Given the description of an element on the screen output the (x, y) to click on. 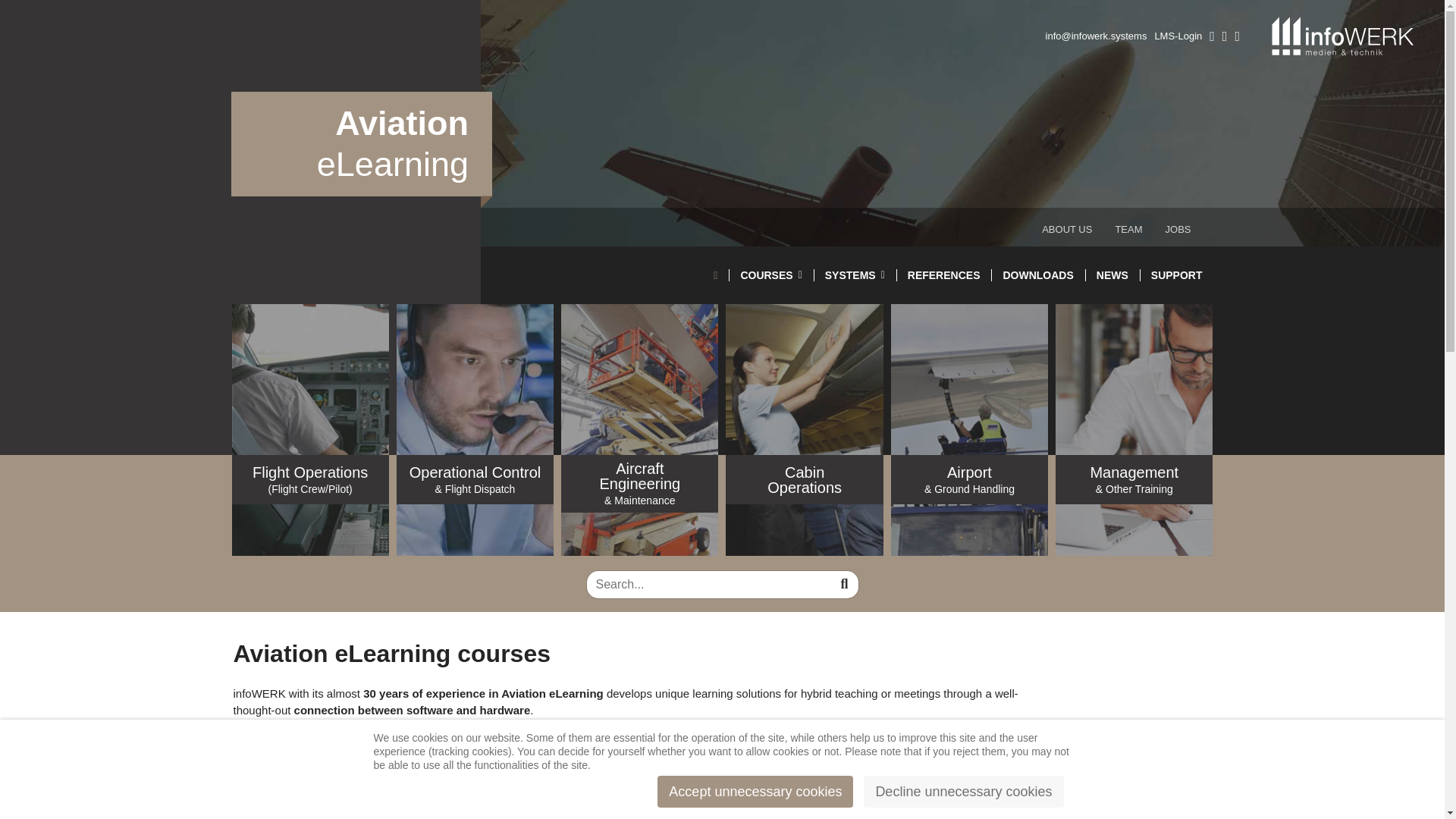
COURSES (770, 275)
TEAM (1128, 229)
LMS-Login (1178, 35)
SYSTEMS (854, 275)
ABOUT US (1066, 229)
JOBS (1178, 229)
